Given the description of an element on the screen output the (x, y) to click on. 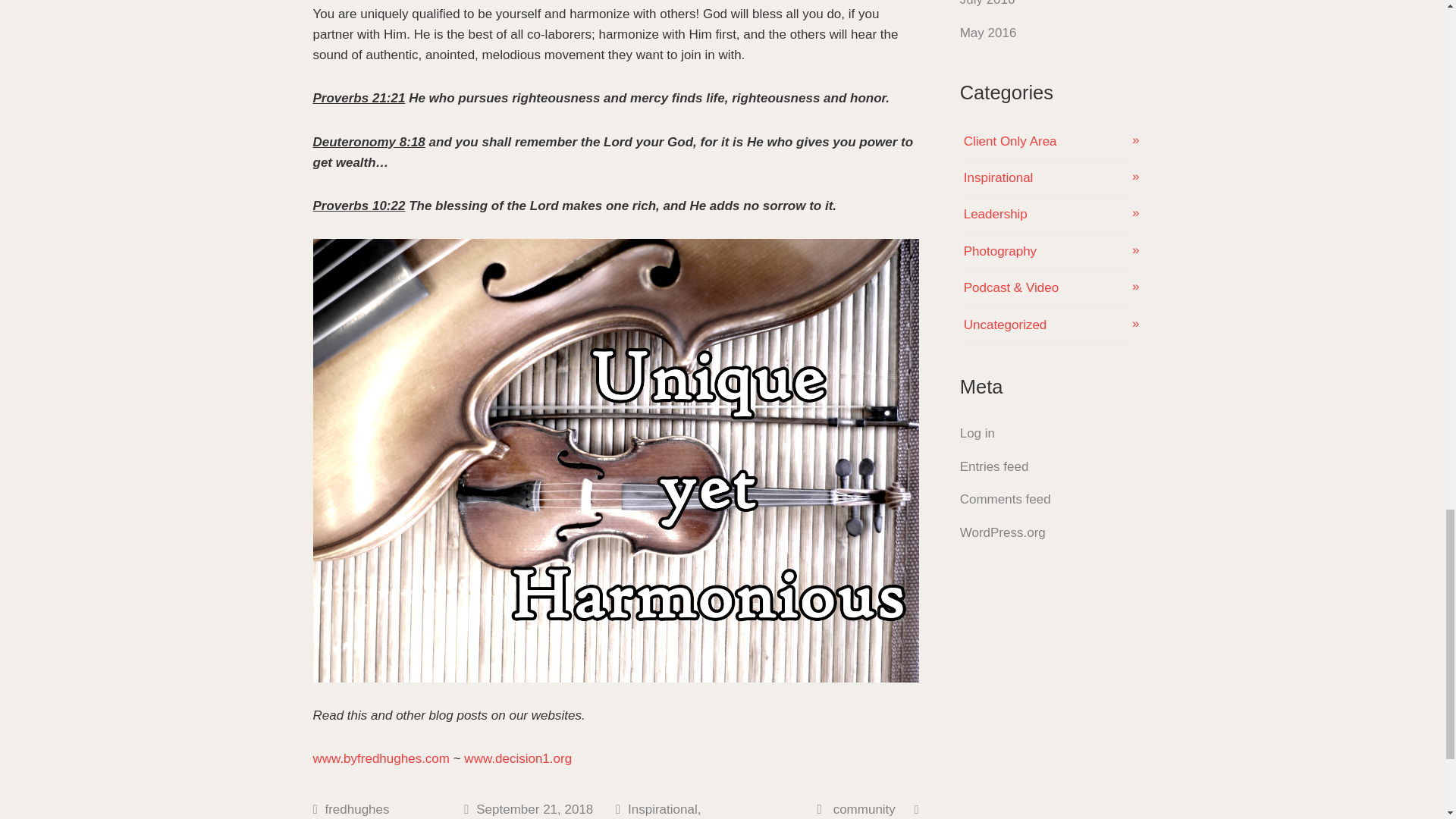
www.decision1.org (518, 758)
Inspirational (662, 809)
community (863, 809)
www.byfredhughes.com (380, 758)
fredhughes (356, 809)
